Given the description of an element on the screen output the (x, y) to click on. 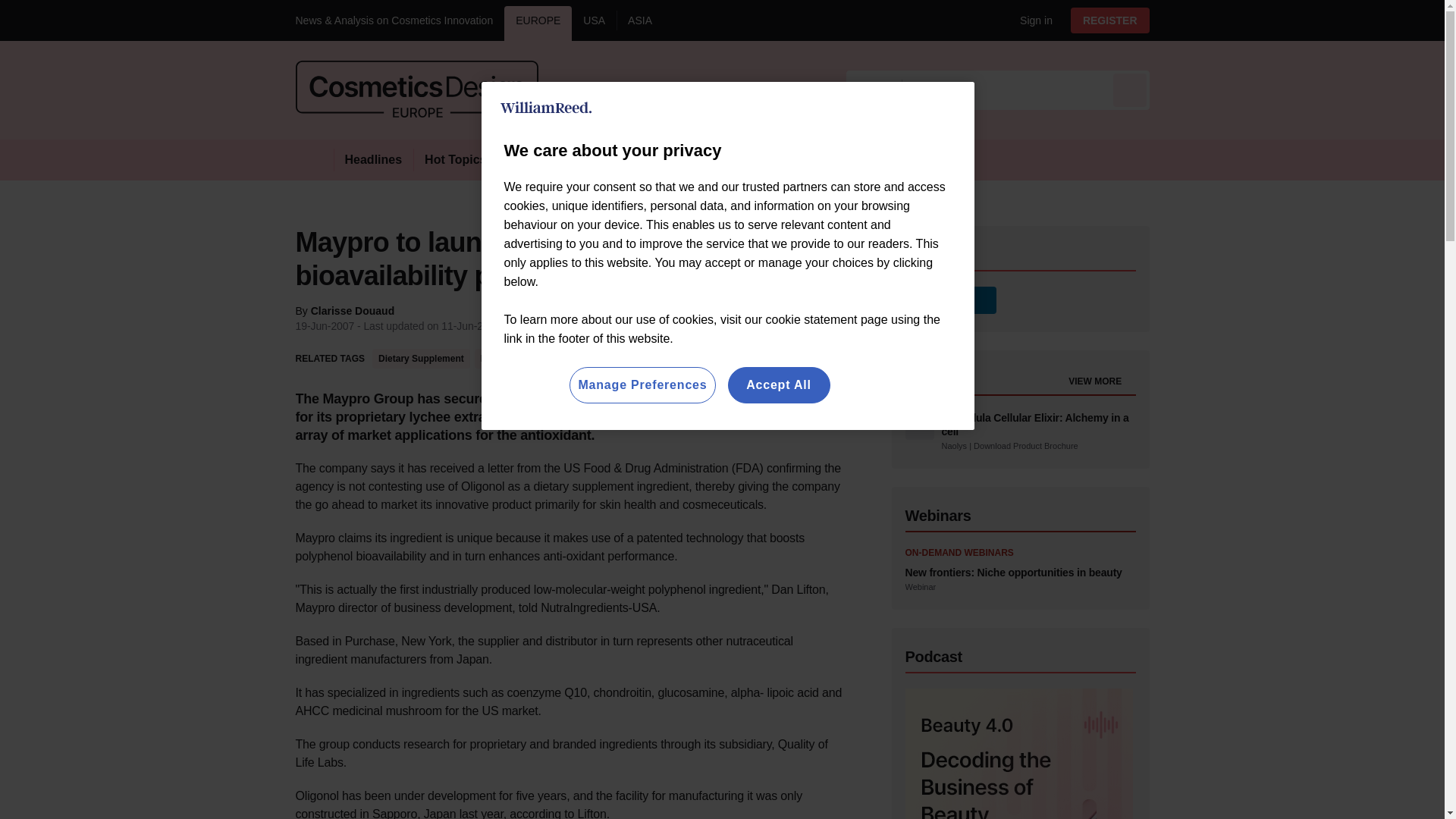
REGISTER (1110, 20)
My account (1114, 20)
Send (1129, 89)
Hot Topics (455, 159)
Send (1129, 90)
Home (313, 159)
USA (593, 22)
William Reed (545, 107)
EUROPE (537, 22)
CosmeticsDesign Europe (416, 89)
Headlines (373, 159)
Sign out (1032, 20)
ASIA (639, 22)
Home (314, 159)
Sign in (1029, 20)
